Given the description of an element on the screen output the (x, y) to click on. 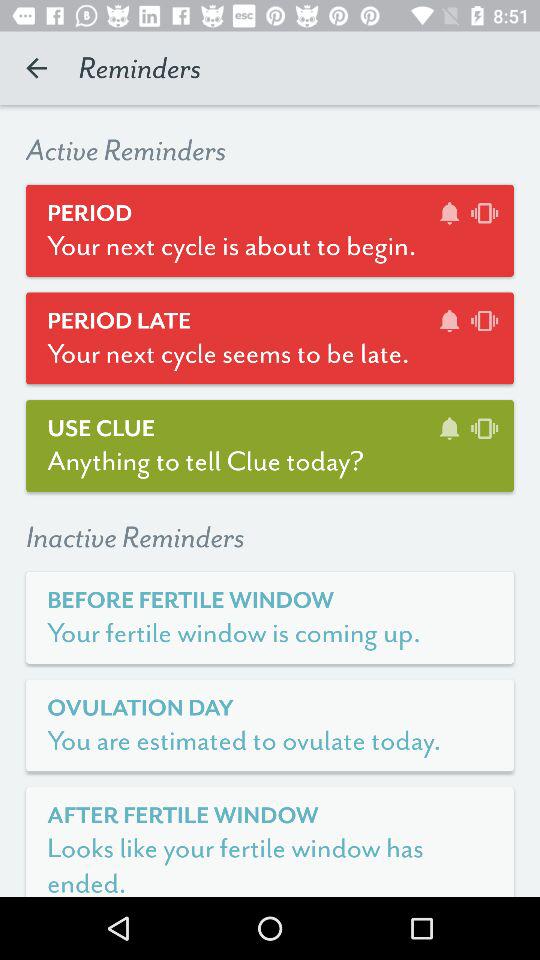
turn on app next to reminders app (36, 68)
